Given the description of an element on the screen output the (x, y) to click on. 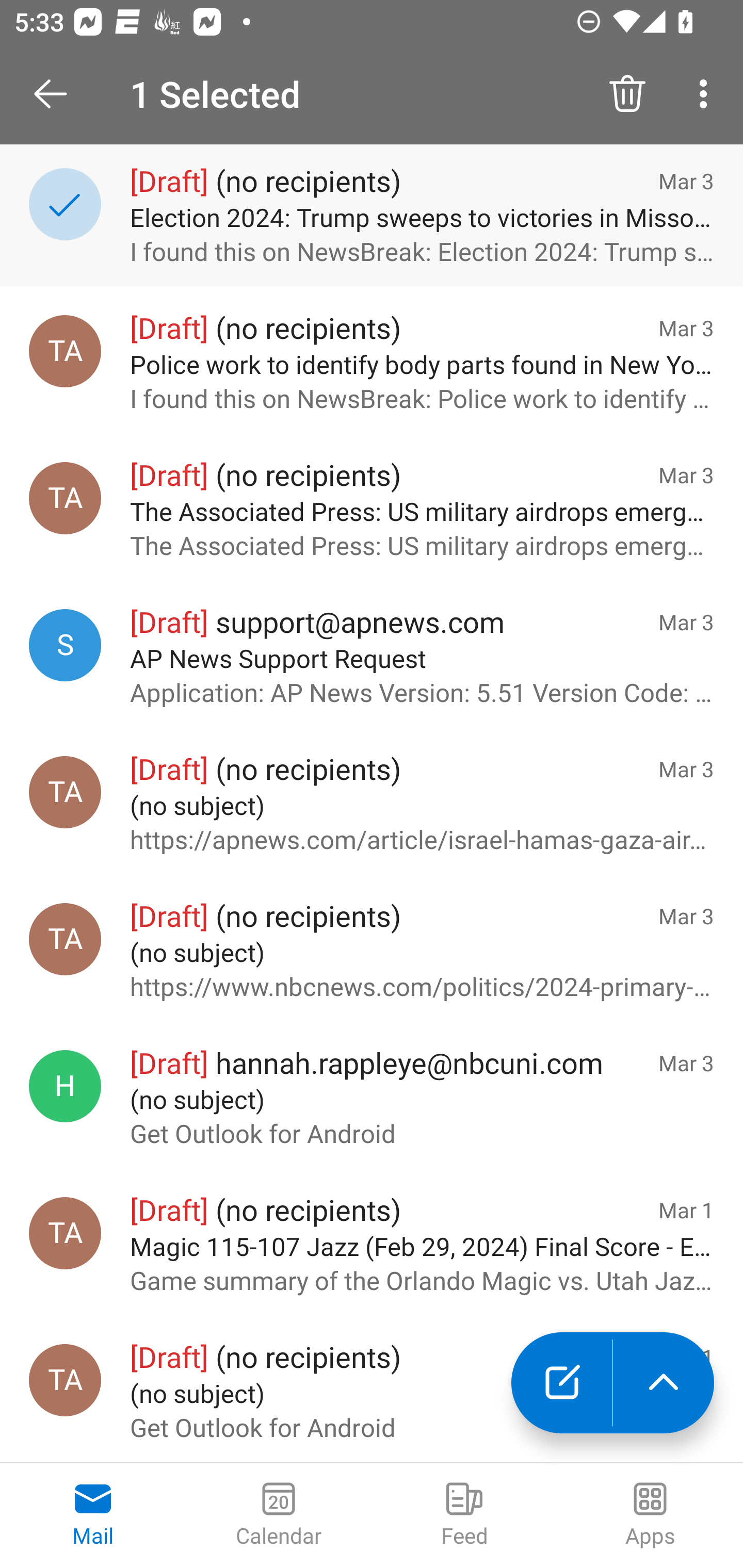
Delete (626, 93)
More options (706, 93)
Open Navigation Drawer (57, 94)
Test Appium, testappium002@outlook.com (64, 351)
Test Appium, testappium002@outlook.com (64, 498)
support@apnews.com (64, 645)
Test Appium, testappium002@outlook.com (64, 791)
Test Appium, testappium002@outlook.com (64, 939)
hannah.rappleye@nbcuni.com (64, 1086)
Test Appium, testappium002@outlook.com (64, 1233)
New mail (561, 1382)
launch the extended action menu (663, 1382)
Test Appium, testappium002@outlook.com (64, 1379)
Calendar (278, 1515)
Feed (464, 1515)
Apps (650, 1515)
